Given the description of an element on the screen output the (x, y) to click on. 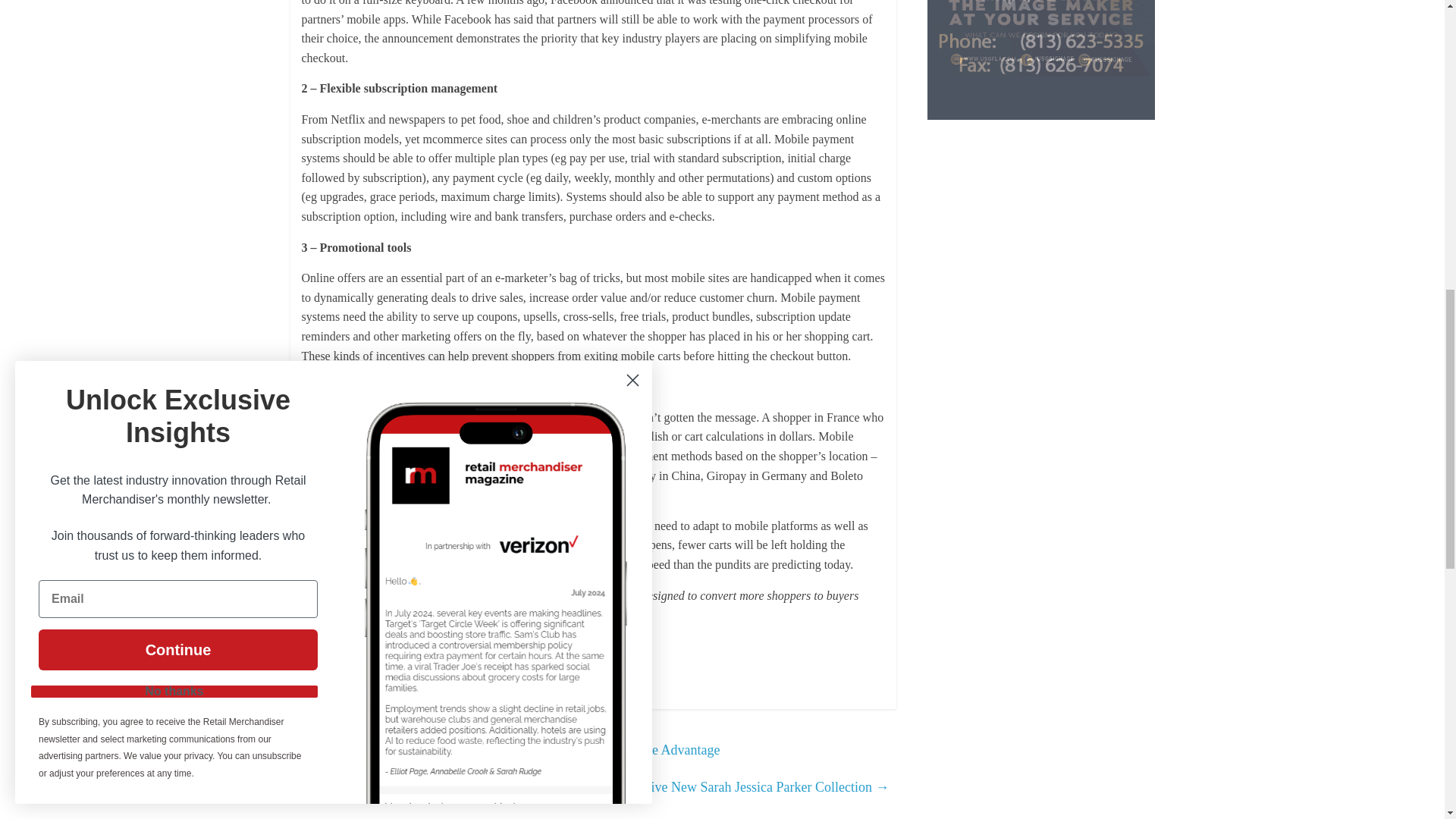
Ecommerce (323, 680)
8:42 pm (335, 646)
Admin (403, 646)
Admin (403, 646)
17 January 2014 (335, 646)
Insights (363, 680)
